Given the description of an element on the screen output the (x, y) to click on. 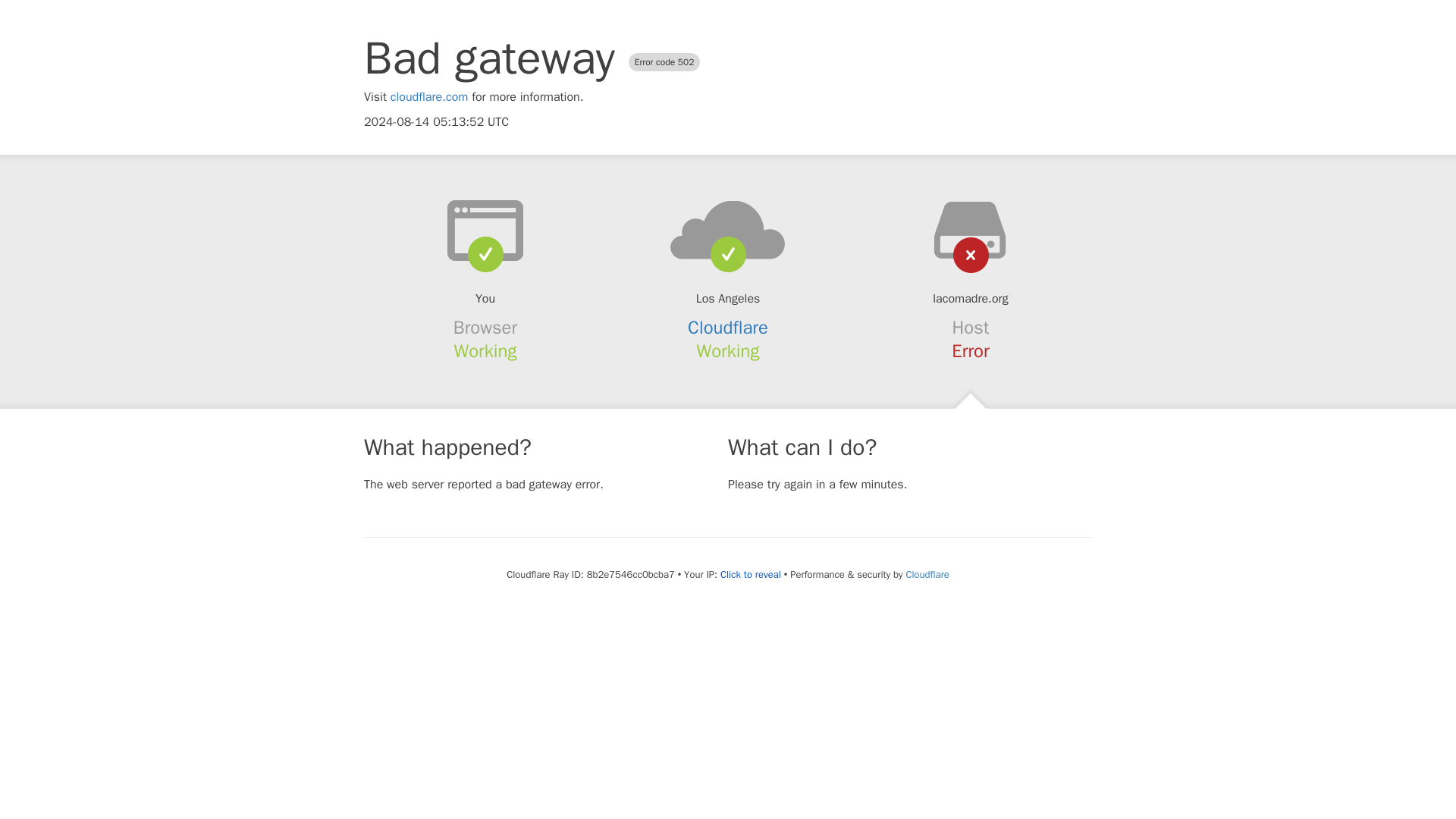
cloudflare.com (429, 96)
Click to reveal (750, 574)
Cloudflare (727, 327)
Cloudflare (927, 574)
